Given the description of an element on the screen output the (x, y) to click on. 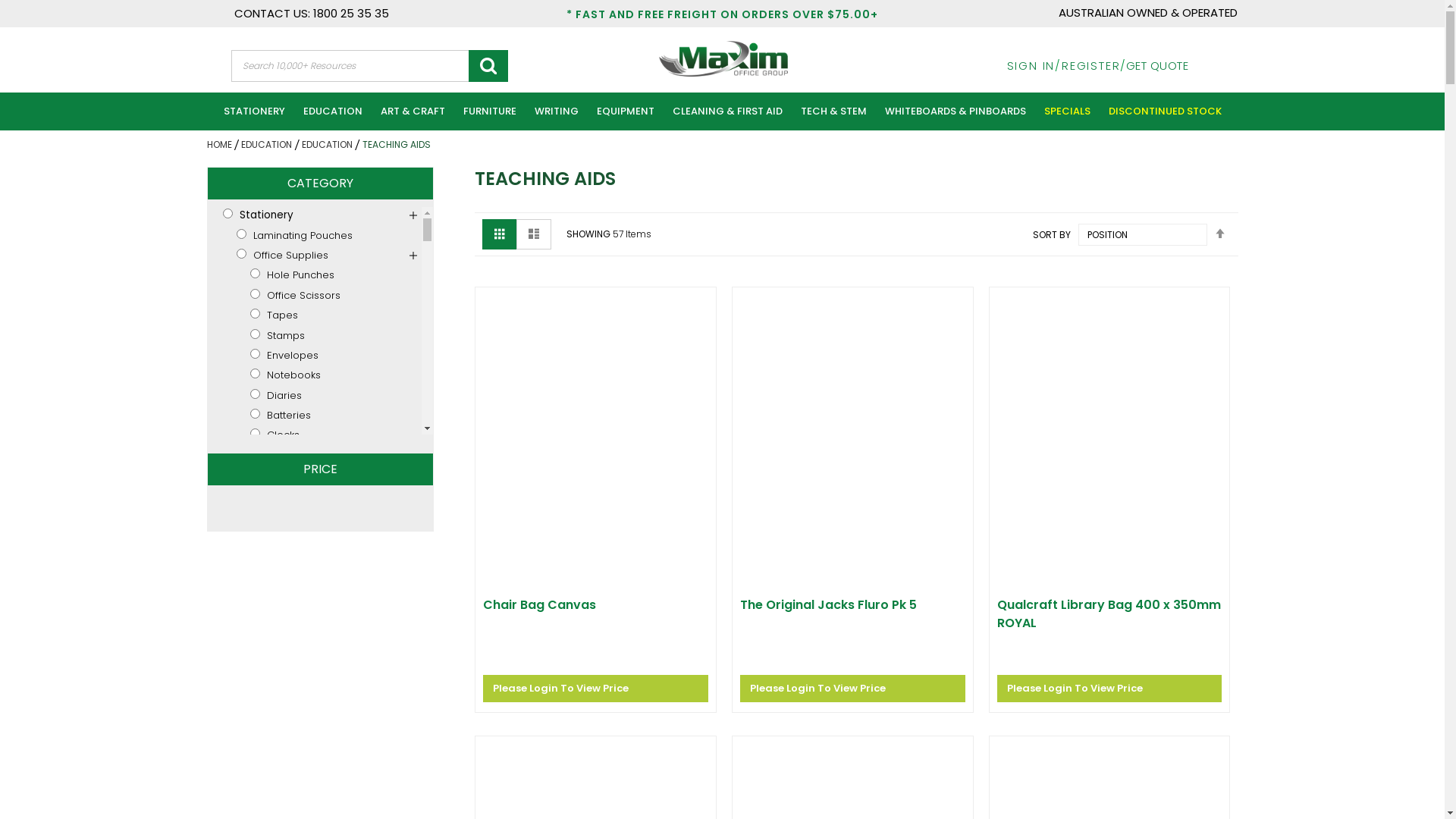
Clocks Element type: text (325, 434)
Office Scissors Element type: text (325, 295)
Sticky Notes Element type: text (325, 589)
/GET QUOTE Element type: text (1154, 65)
Le Cirque A4 Pastel Card Element type: text (332, 772)
DISCONTINUED STOCK Element type: text (1164, 111)
Tapes Element type: text (325, 314)
Notebooks Element type: text (325, 374)
Lanyards & Visitor Id Element type: text (325, 509)
Hole Punches Element type: text (325, 274)
Chair Bag Canvas Element type: text (595, 605)
White Copy Paper Element type: text (325, 649)
Batteries Element type: text (325, 414)
Stamps Element type: text (325, 334)
Power Boards/Extension Leads Element type: text (325, 469)
EQUIPMENT Element type: text (624, 111)
Staplers Element type: text (325, 529)
Search Element type: text (488, 65)
STATIONERY Element type: text (253, 111)
ART & CRAFT Element type: text (412, 111)
My Cart Element type: text (1217, 66)
Paper & Card Element type: text (318, 629)
Le Cirque A4 Bright Paper Element type: text (332, 738)
Coloured Paper Element type: text (325, 669)
Clips & Fasteners Element type: text (325, 549)
Laminating Pouches Element type: text (318, 235)
The Original Jacks Fluro Pk 5 Element type: text (852, 605)
EDUCATION Element type: text (267, 144)
Skip to Content Element type: text (985, 56)
FURNITURE Element type: text (488, 111)
Hook And Loop Element type: text (325, 489)
EDUCATION Element type: text (332, 111)
Printed Carbon Books Element type: text (318, 609)
Diaries Element type: text (325, 395)
TECH & STEM Element type: text (833, 111)
Le Cirque A4 Bright Card Element type: text (332, 807)
List Element type: text (533, 234)
Office Supplies Element type: text (318, 254)
Rubber Bands Element type: text (325, 569)
SET DESCENDING DIRECTION Element type: text (1219, 233)
CLEANING & FIRST AID Element type: text (726, 111)
WRITING Element type: text (555, 111)
Maxim Element type: hover (722, 58)
Please Login To View Price Element type: text (1109, 688)
Stationery Element type: text (257, 214)
HOME Element type: text (219, 144)
Please Login To View Price Element type: text (595, 688)
Envelopes Element type: text (325, 355)
WHITEBOARDS & PINBOARDS Element type: text (954, 111)
/REGISTER Element type: text (1087, 65)
SPECIALS Element type: text (1066, 111)
Please Login To View Price Element type: text (852, 688)
SIGN IN Element type: text (1020, 65)
Qualcraft Library Bag 400 x 350mm ROYAL Element type: text (1109, 614)
EDUCATION Element type: text (327, 144)
CONTACT US: 1800 25 35 35 Element type: text (300, 13)
Le Cirque A4 Pastel Paper Element type: text (332, 703)
